Given the description of an element on the screen output the (x, y) to click on. 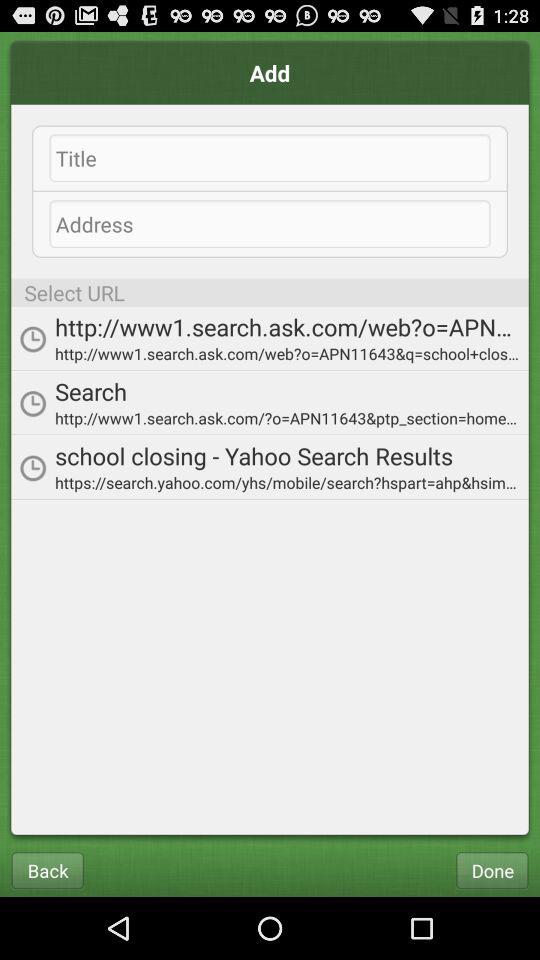
scroll to the done icon (492, 870)
